Given the description of an element on the screen output the (x, y) to click on. 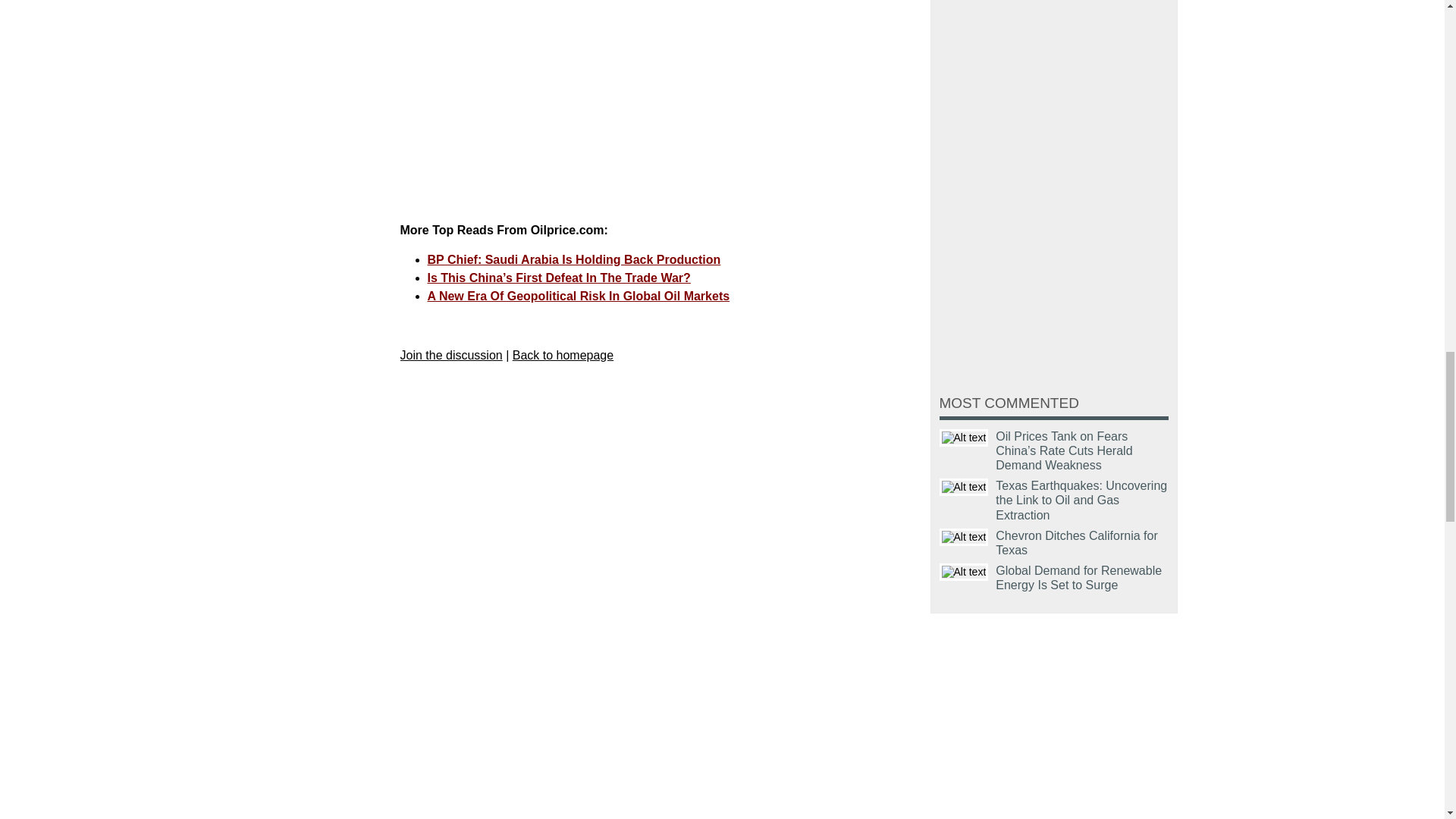
Title text (963, 571)
Title text (963, 437)
Title text (963, 537)
Title text (963, 487)
